Given the description of an element on the screen output the (x, y) to click on. 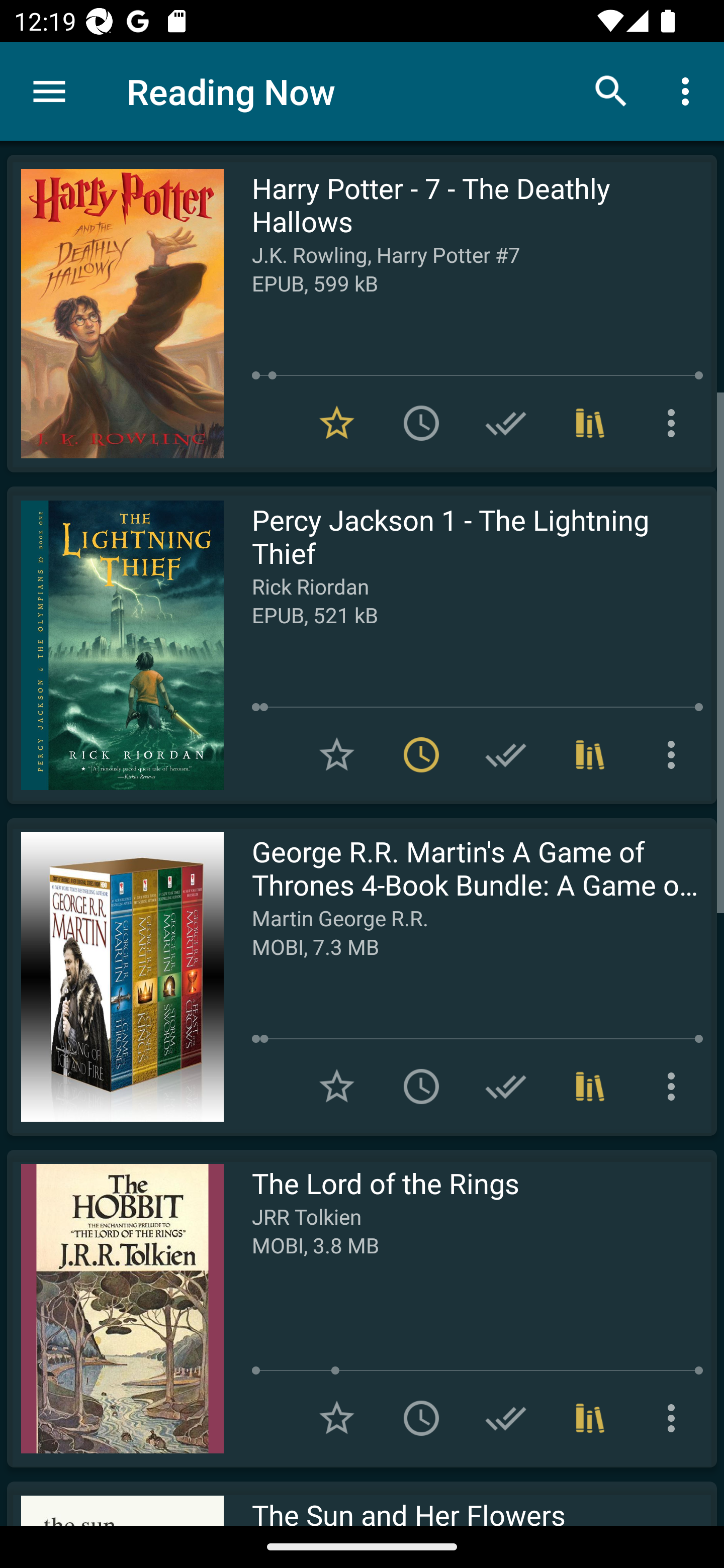
Menu (49, 91)
Search books & documents (611, 90)
More options (688, 90)
Read Harry Potter - 7 - The Deathly Hallows (115, 313)
Remove from Favorites (336, 423)
Add to To read (421, 423)
Add to Have read (505, 423)
Collections (1) (590, 423)
More options (674, 423)
Read Percy Jackson 1 - The Lightning Thief (115, 645)
Add to Favorites (336, 753)
Remove from To read (421, 753)
Add to Have read (505, 753)
Collections (1) (590, 753)
More options (674, 753)
Add to Favorites (336, 1086)
Add to To read (421, 1086)
Add to Have read (505, 1086)
Collections (1) (590, 1086)
More options (674, 1086)
Read The Lord of the Rings (115, 1308)
Add to Favorites (336, 1417)
Add to To read (421, 1417)
Add to Have read (505, 1417)
Collections (1) (590, 1417)
More options (674, 1417)
